Given the description of an element on the screen output the (x, y) to click on. 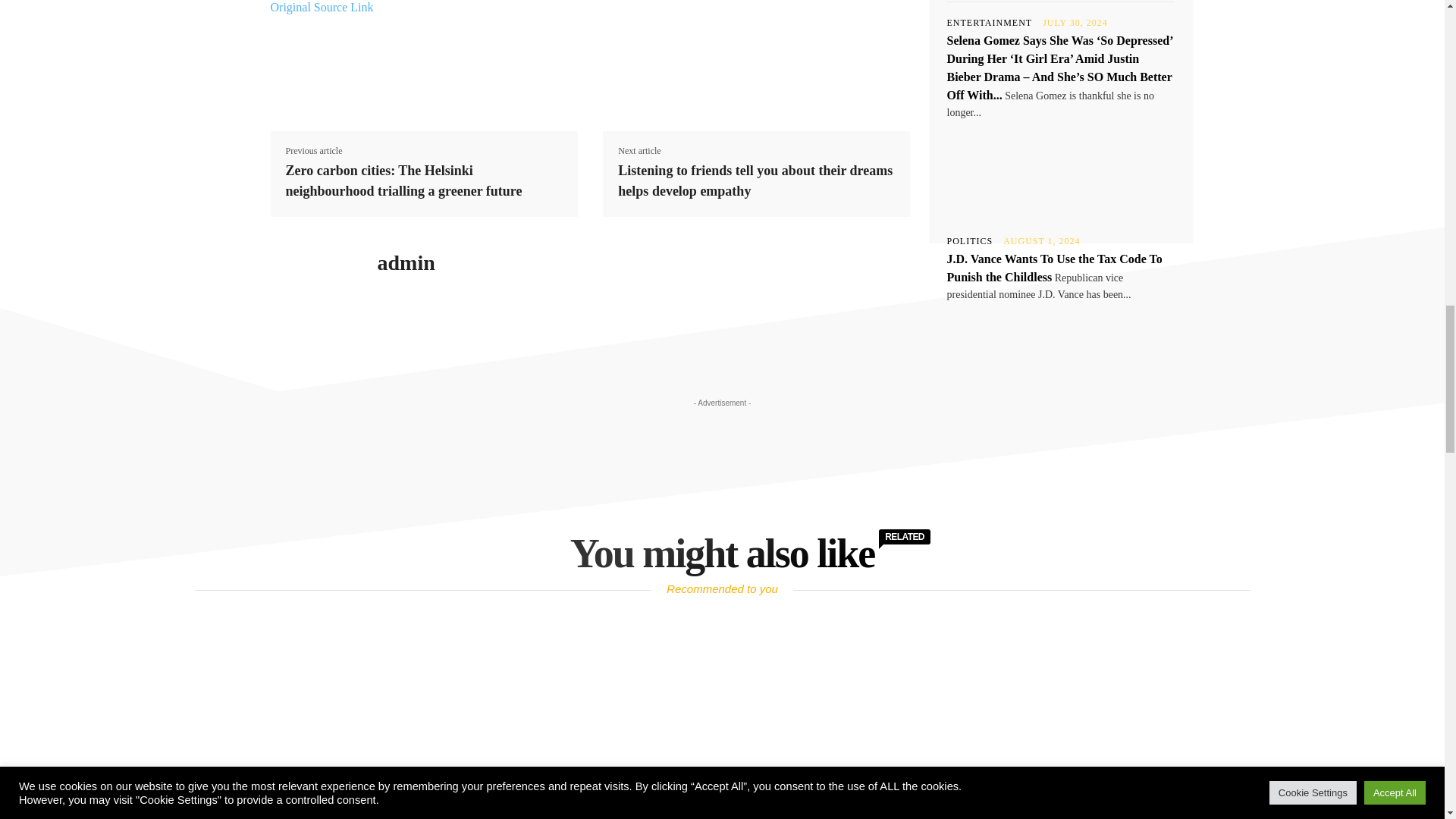
admin (406, 262)
Original Source Link (320, 6)
